Given the description of an element on the screen output the (x, y) to click on. 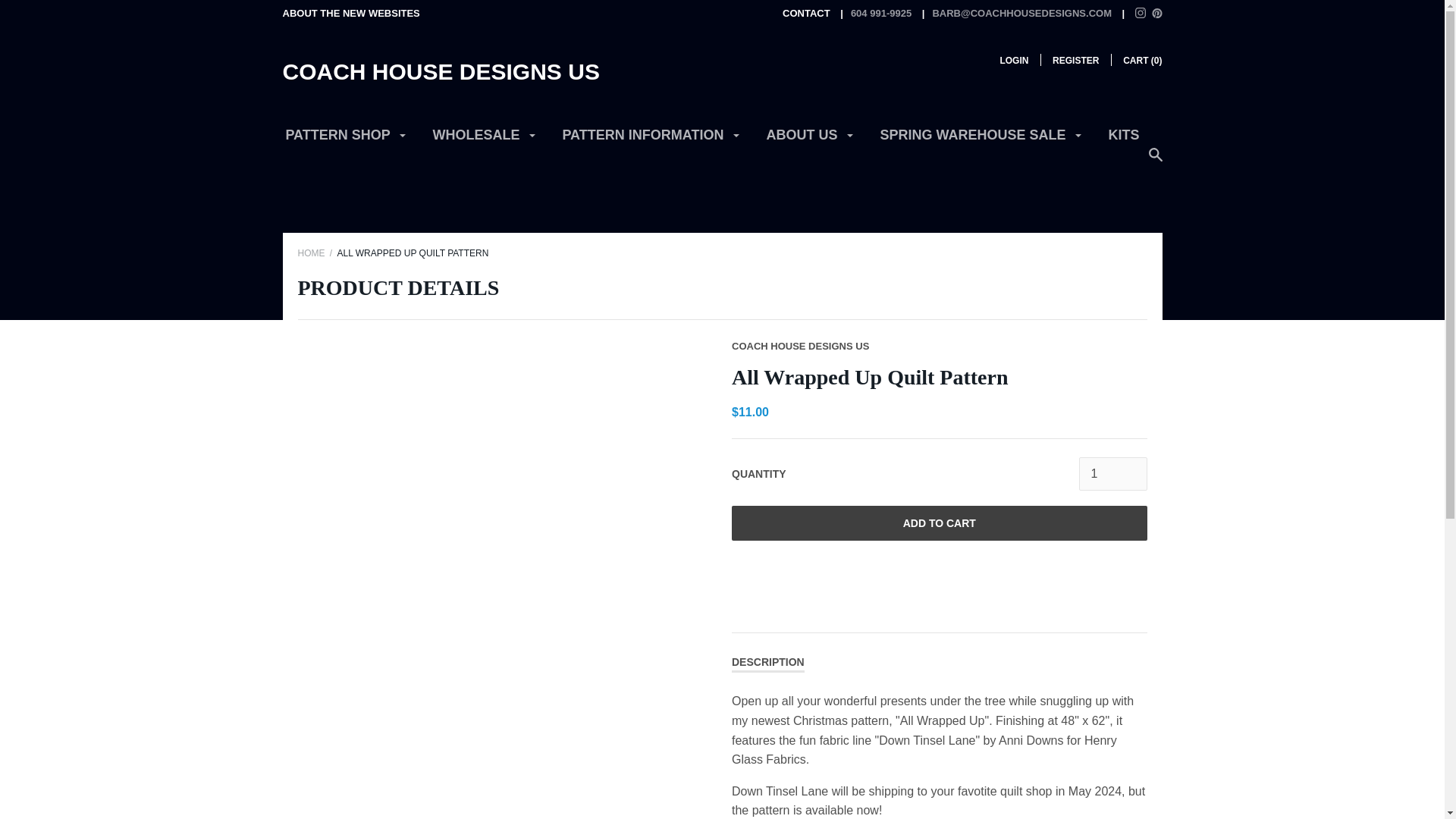
Pinterest (1156, 14)
COACH HOUSE DESIGNS US (440, 71)
LOGIN (1012, 60)
REGISTER (1075, 60)
Instagram (1140, 12)
Search (1154, 162)
PATTERN SHOP (345, 140)
Instagram (1140, 14)
Pinterest (1156, 12)
ABOUT THE NEW WEBSITES (350, 12)
1 (1112, 473)
